Given the description of an element on the screen output the (x, y) to click on. 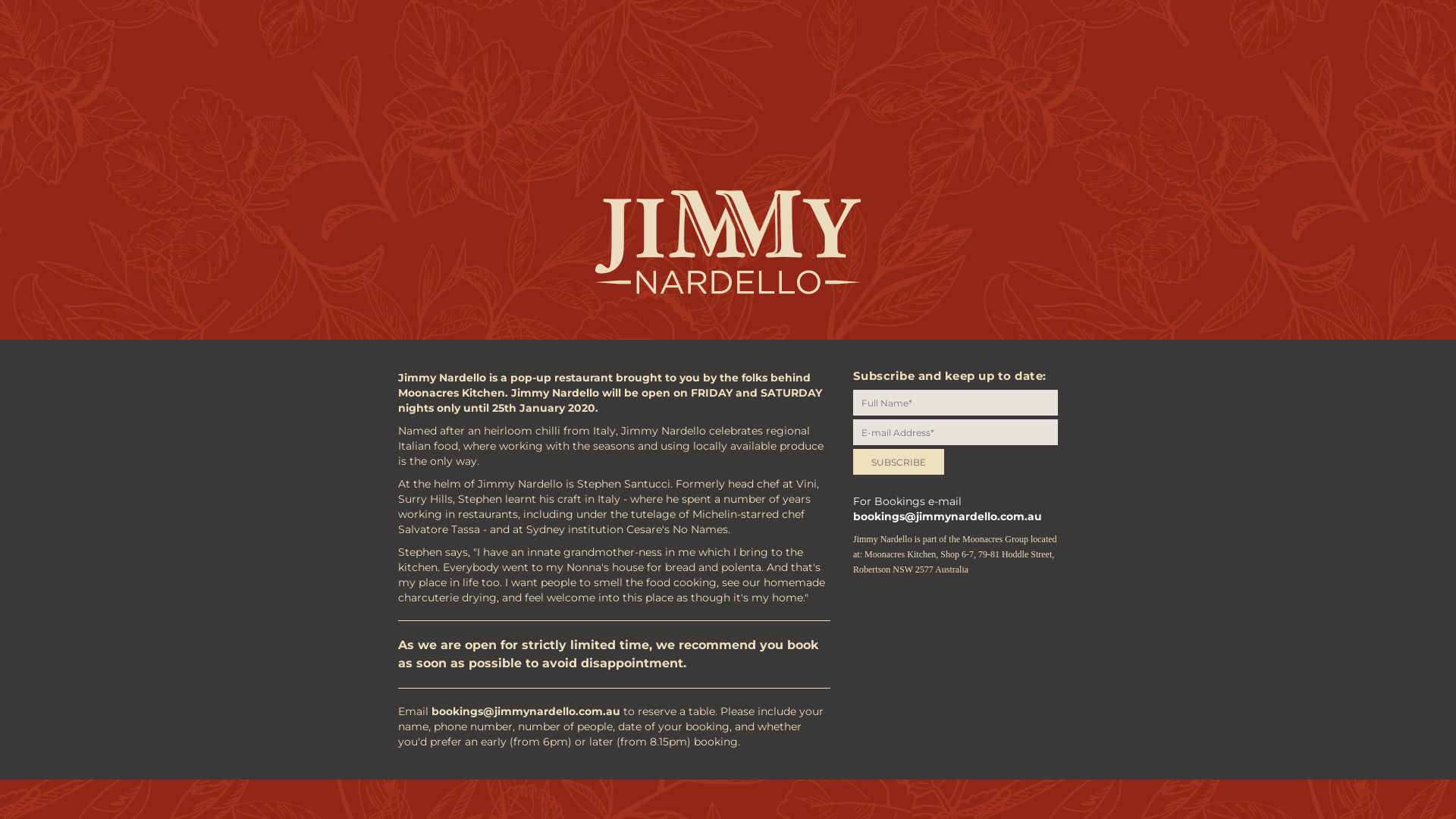
SUBSCRIBE Element type: text (898, 461)
bookings@jimmynardello.com.au Element type: text (947, 516)
bookings@jimmynardello.com.au Element type: text (525, 711)
